Given the description of an element on the screen output the (x, y) to click on. 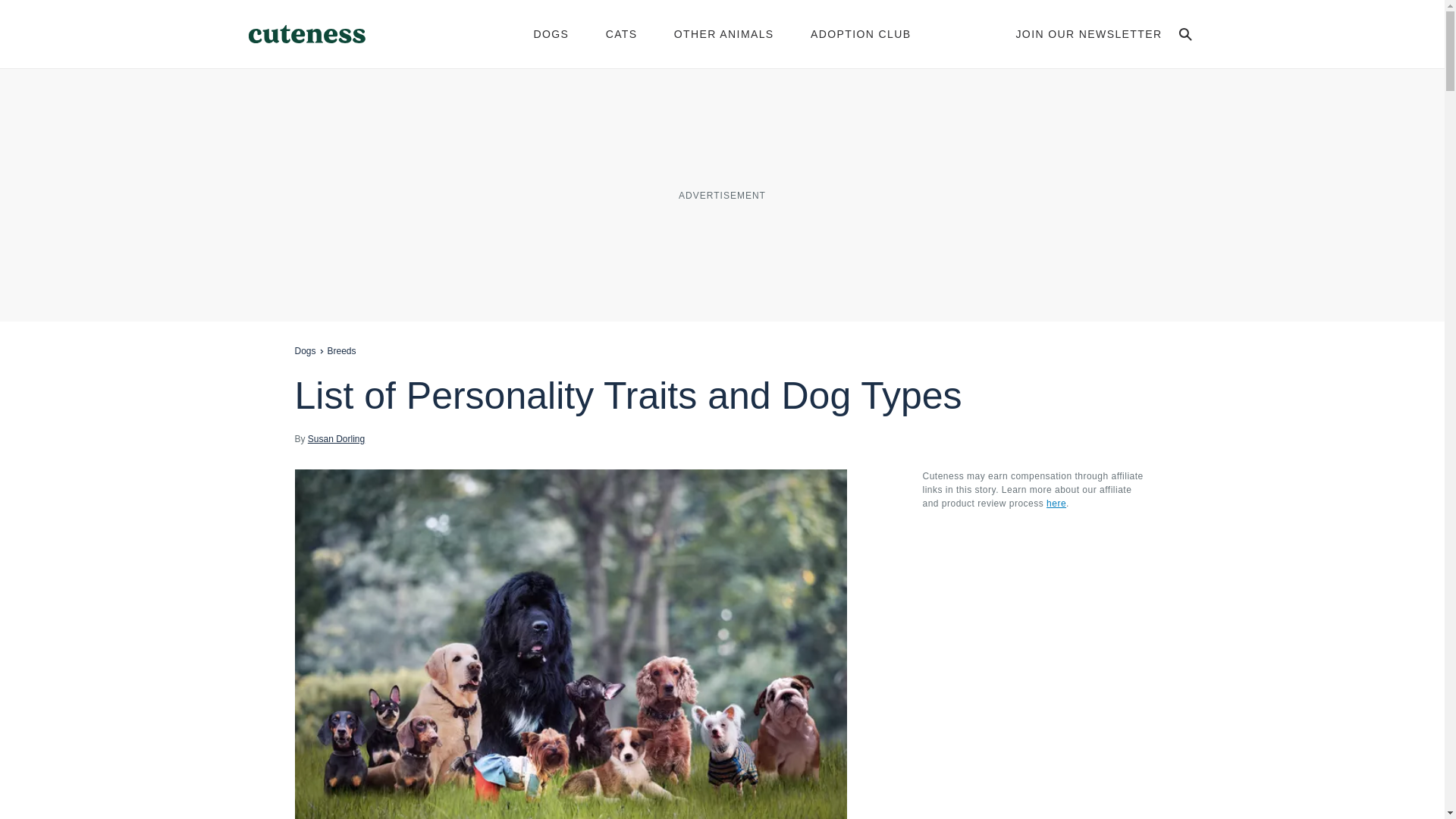
Breeds (341, 350)
Dogs (304, 350)
Learn more about our affiliate and product review process (1055, 502)
Susan Dorling (336, 438)
ADOPTION CLUB (860, 33)
JOIN OUR NEWSLETTER (1087, 33)
